Given the description of an element on the screen output the (x, y) to click on. 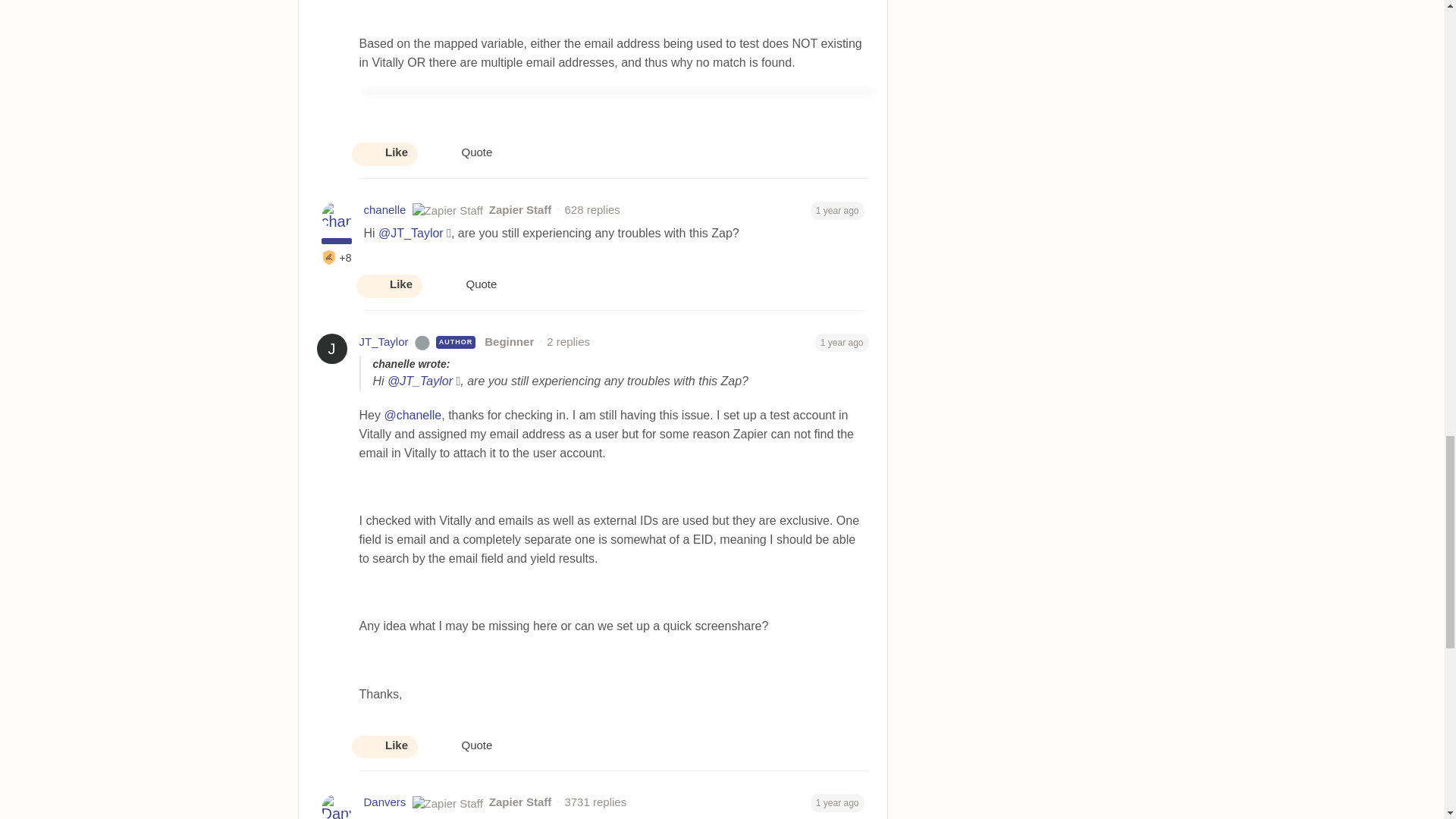
Danvers (385, 802)
chanelle (385, 210)
First Best Answer (328, 257)
